Given the description of an element on the screen output the (x, y) to click on. 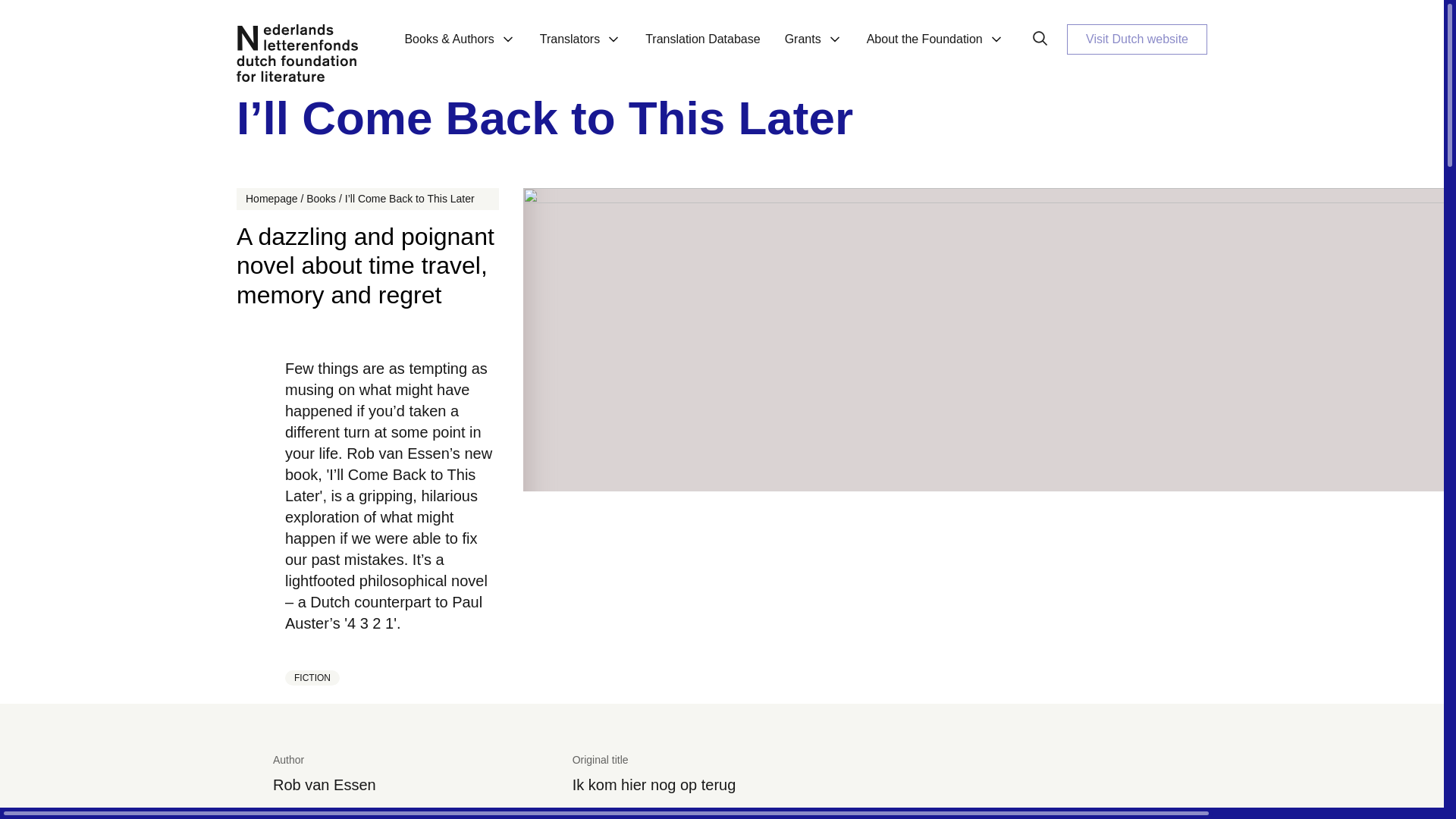
Homepage (272, 198)
Visit Dutch website (1137, 39)
Translators (580, 48)
Visit Dutch website (1137, 39)
About the Foundation (935, 48)
Grants (813, 48)
Translation Database (702, 48)
Books (320, 198)
